Given the description of an element on the screen output the (x, y) to click on. 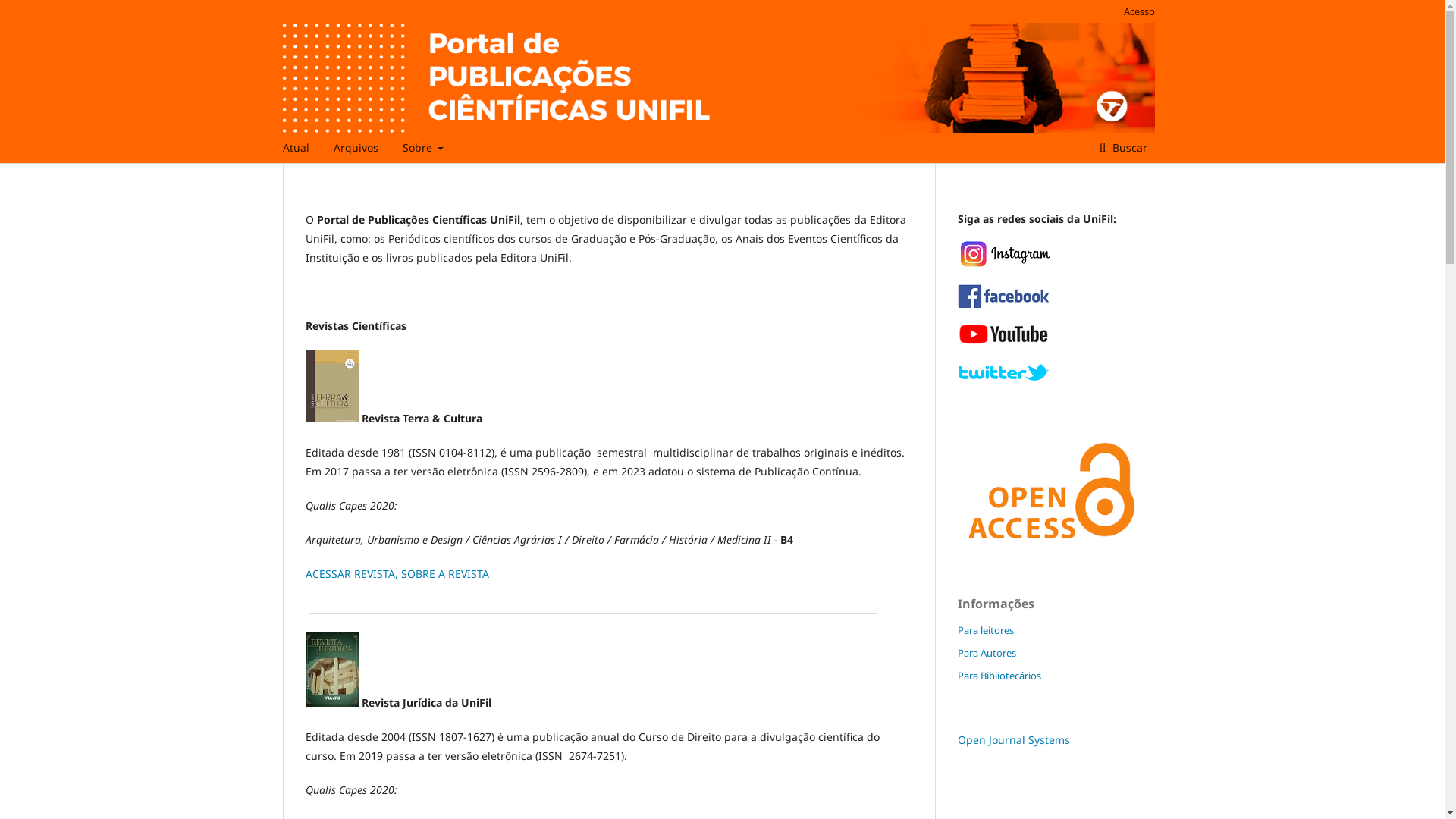
Atual Element type: text (295, 147)
youtube Element type: hover (1002, 339)
Buscar Element type: text (1123, 147)
twitter Element type: hover (1002, 379)
SOBRE A REVISTA Element type: text (444, 573)
Sobre Element type: text (422, 147)
Arquivos Element type: text (355, 147)
Para Autores Element type: text (986, 652)
facebook Element type: hover (1002, 304)
Acesso Element type: text (1135, 11)
Open Journal Systems Element type: text (1013, 739)
Para leitores Element type: text (985, 630)
ACESSAR REVISTA, Element type: text (350, 573)
